Given the description of an element on the screen output the (x, y) to click on. 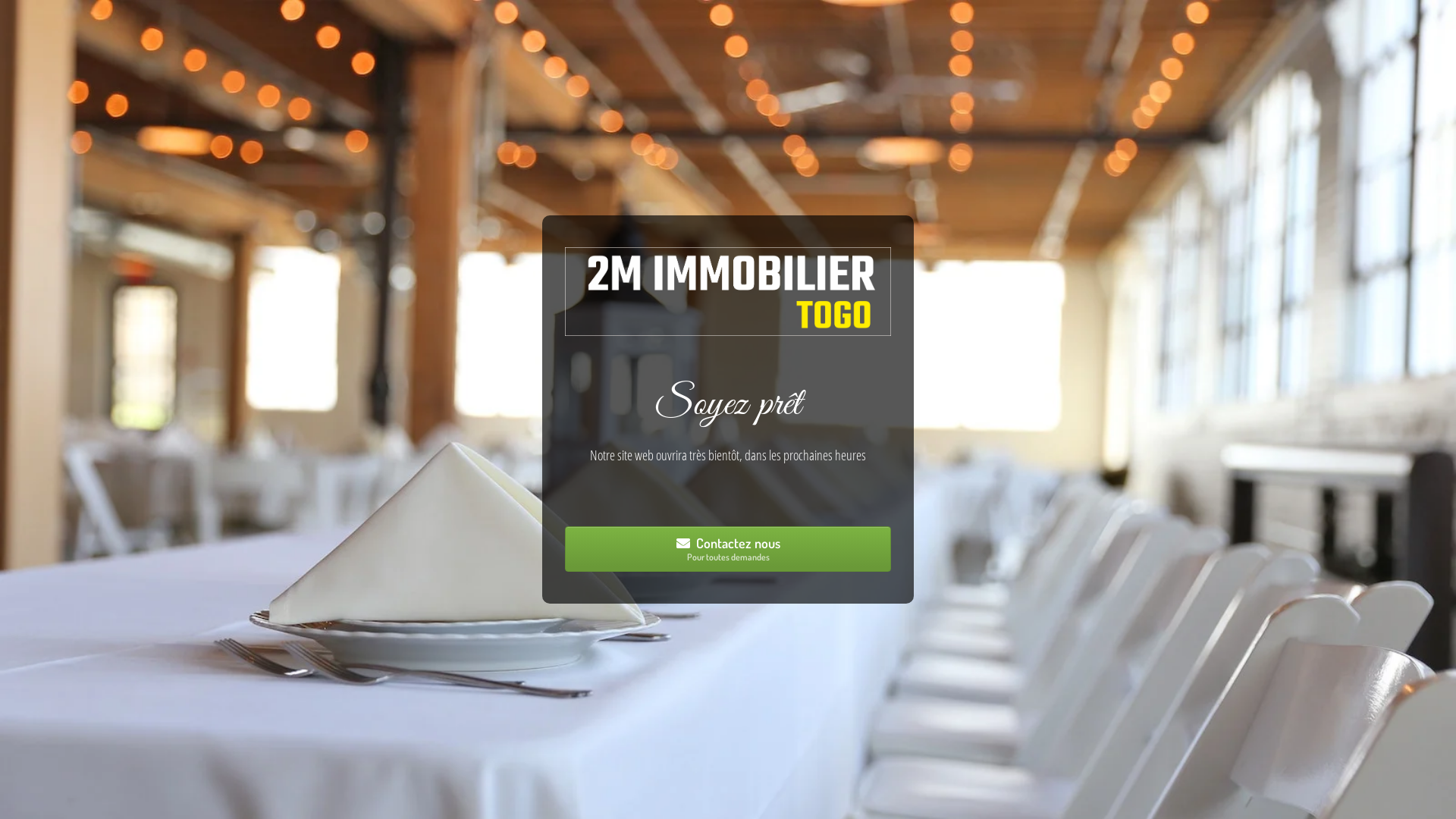
Contactez nous
Pour toutes demandes Element type: text (727, 548)
